Given the description of an element on the screen output the (x, y) to click on. 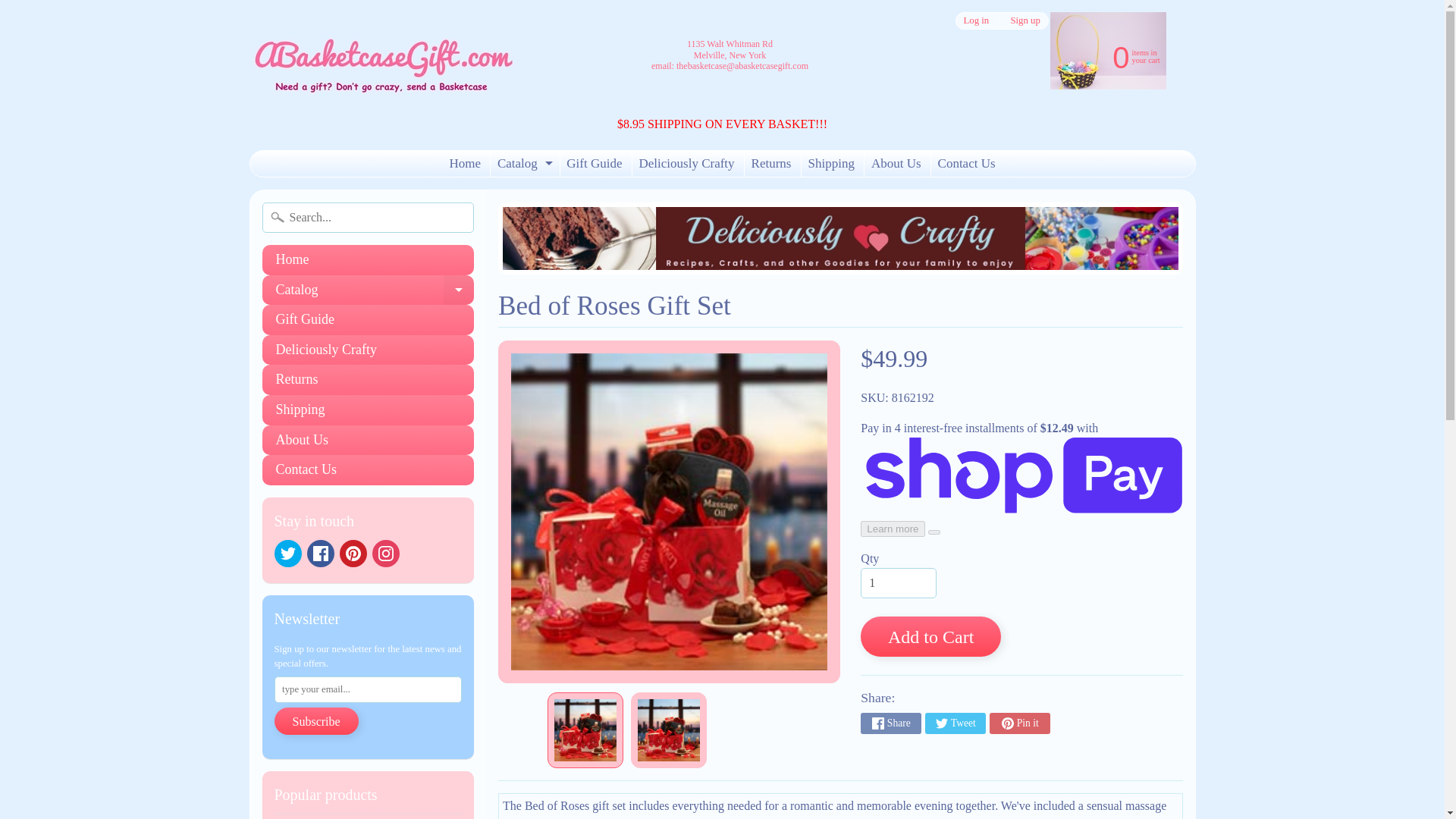
Instagram (523, 163)
It's Fall Y'All Fall Log Cabin Gift (384, 553)
Facebook (369, 816)
Bed of Roses Gift Set (1122, 56)
Home (319, 553)
Sign up (585, 730)
Log in (464, 163)
1 (1025, 20)
ABasketcaseGift.com (975, 20)
Twitter (898, 583)
Bed of Roses Gift Set (380, 55)
Pinterest (288, 553)
